Given the description of an element on the screen output the (x, y) to click on. 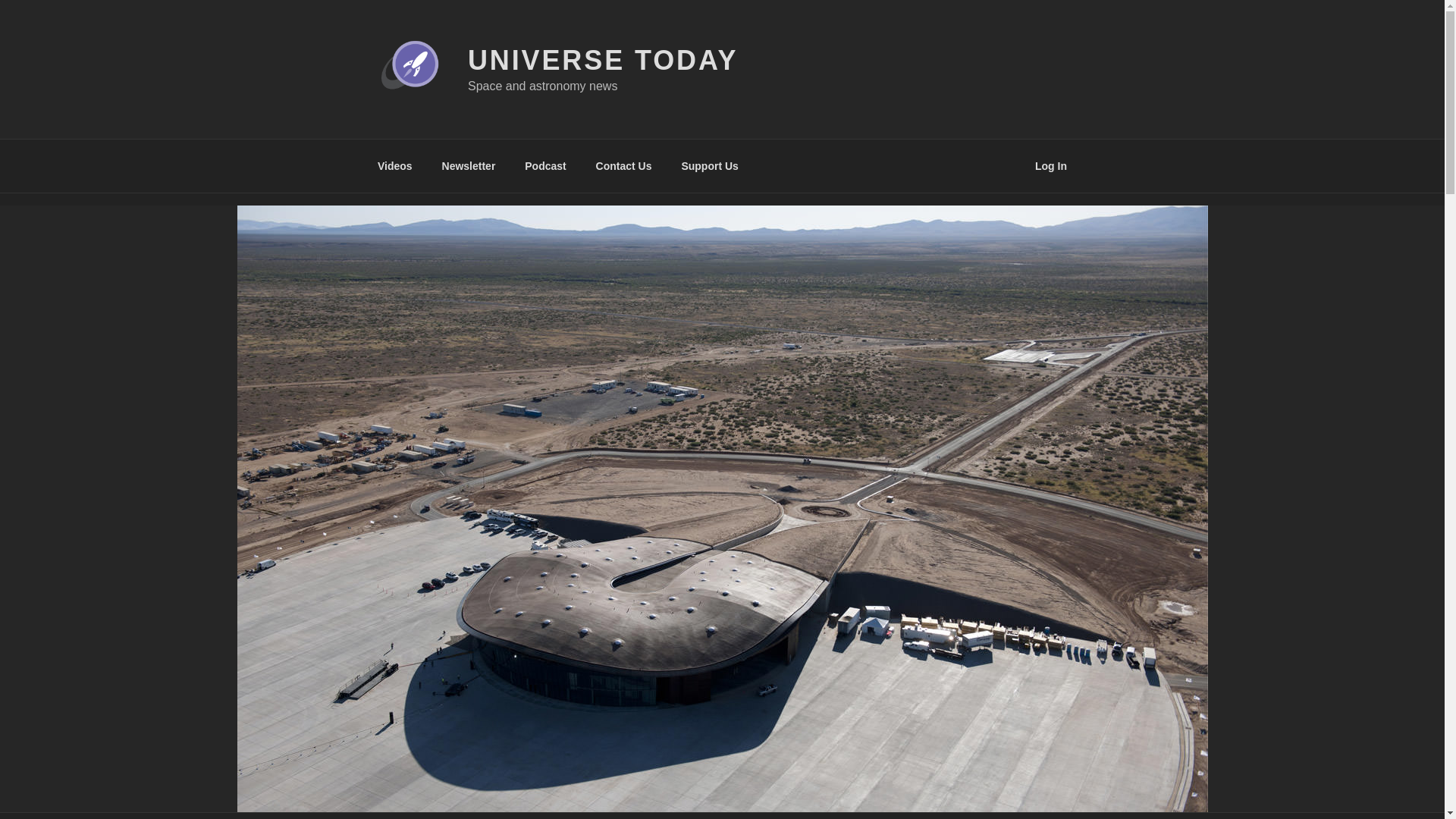
Newsletter (468, 165)
Support Us (709, 165)
Log In (1051, 165)
Contact Us (623, 165)
Podcast (545, 165)
UNIVERSE TODAY (602, 60)
Videos (394, 165)
